Given the description of an element on the screen output the (x, y) to click on. 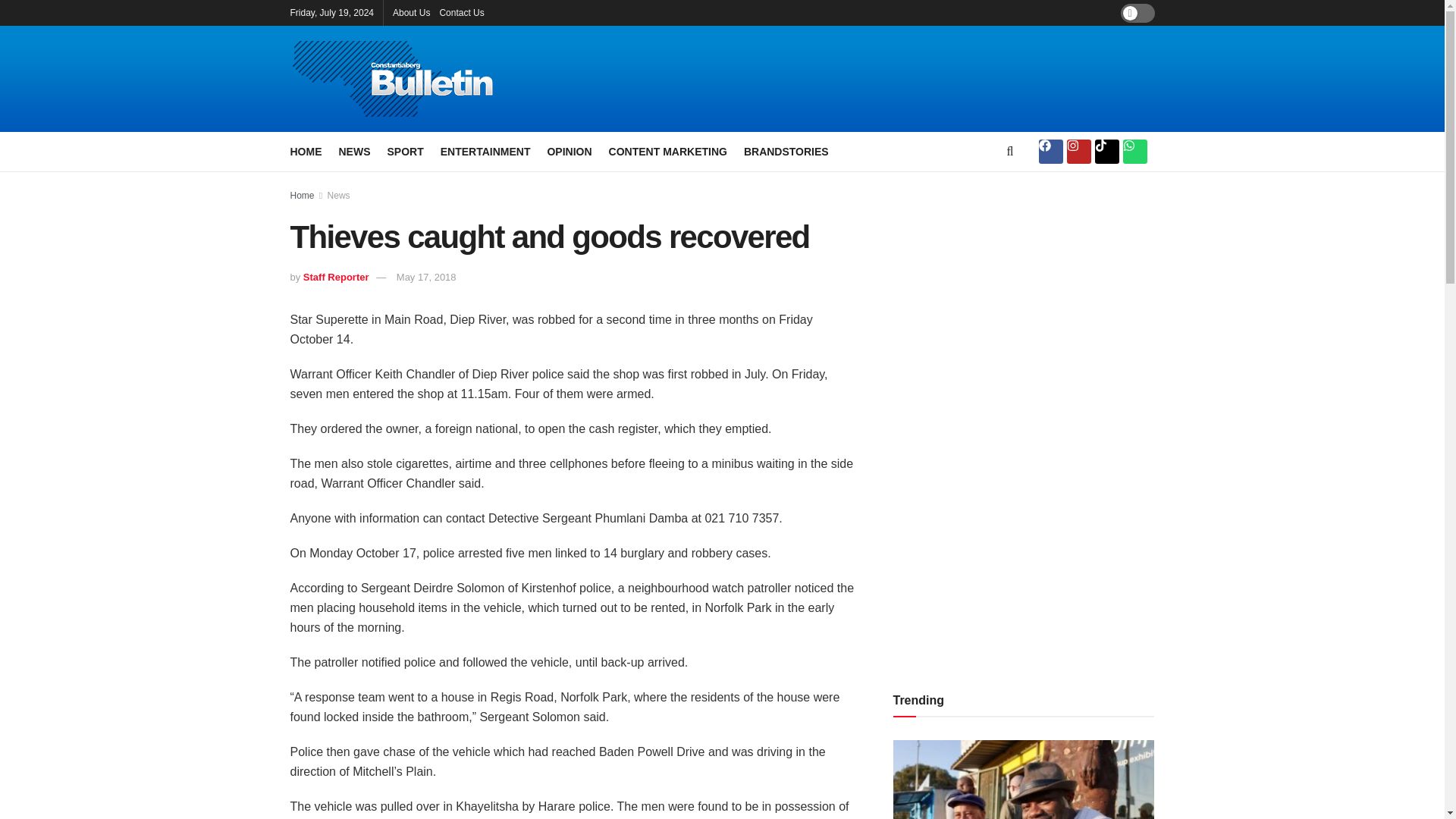
3rd party ad content (888, 79)
NEWS (353, 151)
SPORT (405, 151)
Contact Us (461, 12)
CONTENT MARKETING (667, 151)
Staff Reporter (335, 276)
News (338, 195)
ENTERTAINMENT (486, 151)
May 17, 2018 (426, 276)
3rd party ad content (1007, 428)
Home (301, 195)
OPINION (569, 151)
About Us (411, 12)
BRANDSTORIES (786, 151)
HOME (305, 151)
